Given the description of an element on the screen output the (x, y) to click on. 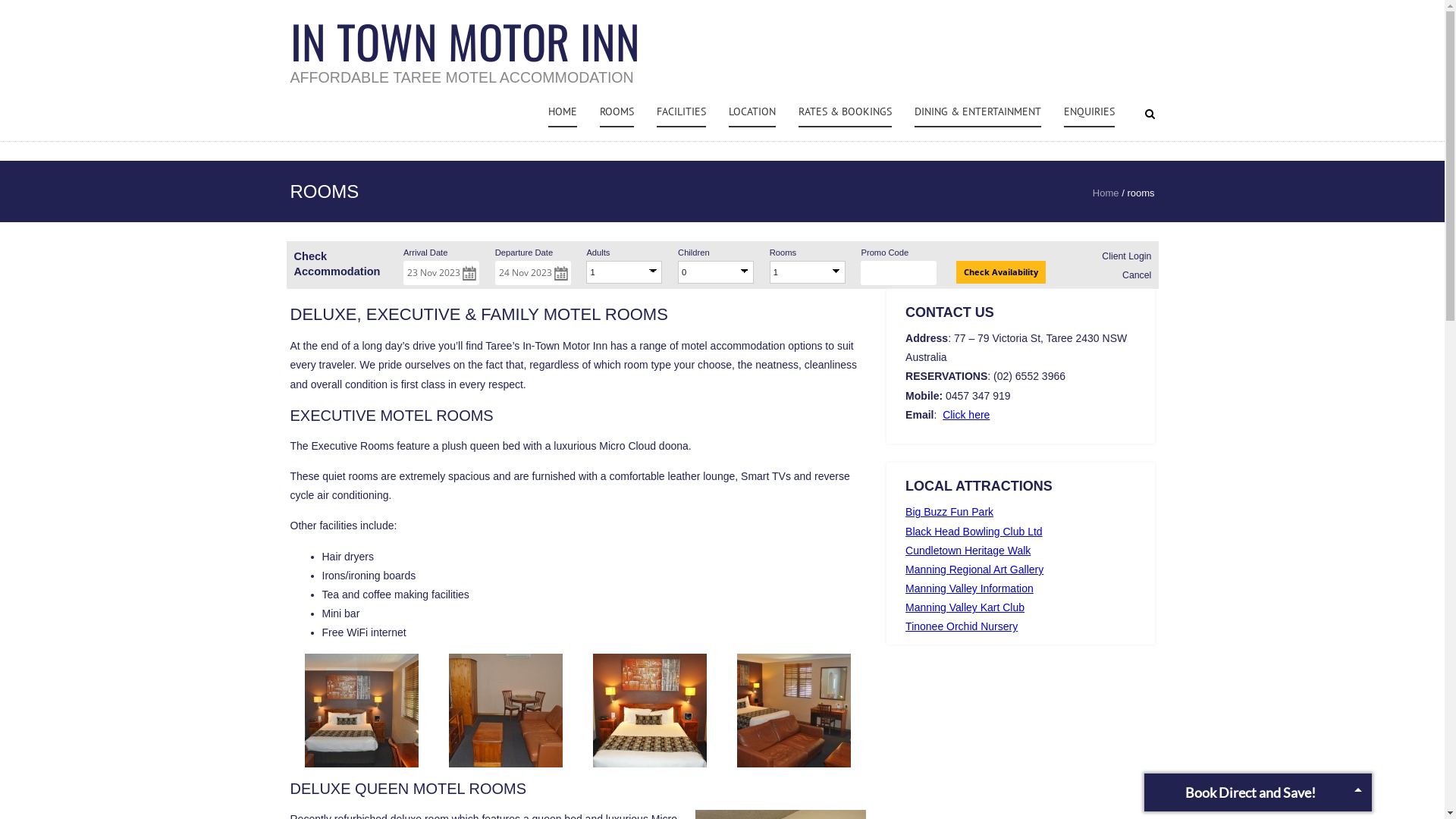
Manning Valley Kart Club Element type: text (964, 607)
Home Element type: text (1105, 192)
Cundletown Heritage Walk Element type: text (967, 550)
Manning Regional Art Gallery Element type: text (974, 569)
Big Buzz Fun Park Element type: text (949, 511)
FACILITIES Element type: text (681, 112)
Check Availability Element type: text (1000, 271)
Black Head Bowling Club Ltd Element type: text (973, 531)
Manning Valley Information Element type: text (969, 588)
Tinonee Orchid Nursery Element type: text (961, 626)
LOCATION Element type: text (751, 112)
HOME Element type: text (562, 112)
RATES & BOOKINGS Element type: text (844, 112)
IN TOWN MOTOR INN
AFFORDABLE TAREE MOTEL ACCOMMODATION Element type: text (464, 50)
DINING & ENTERTAINMENT Element type: text (977, 112)
Click here Element type: text (965, 414)
Cancel Element type: text (1136, 274)
Client Login Element type: text (1126, 256)
ROOMS Element type: text (616, 112)
ENQUIRIES Element type: text (1088, 112)
